Given the description of an element on the screen output the (x, y) to click on. 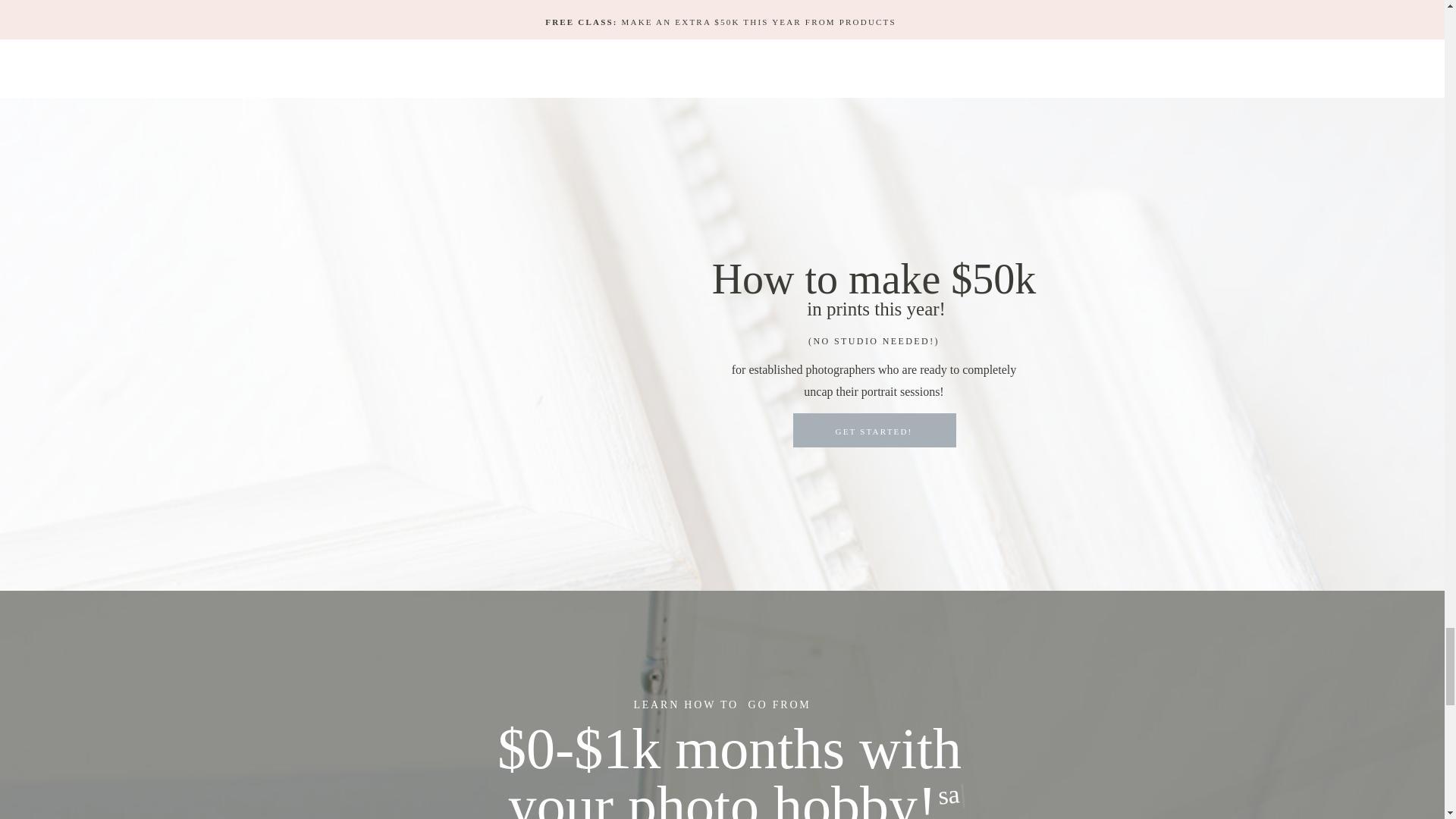
READ THE POST (776, 15)
